Given the description of an element on the screen output the (x, y) to click on. 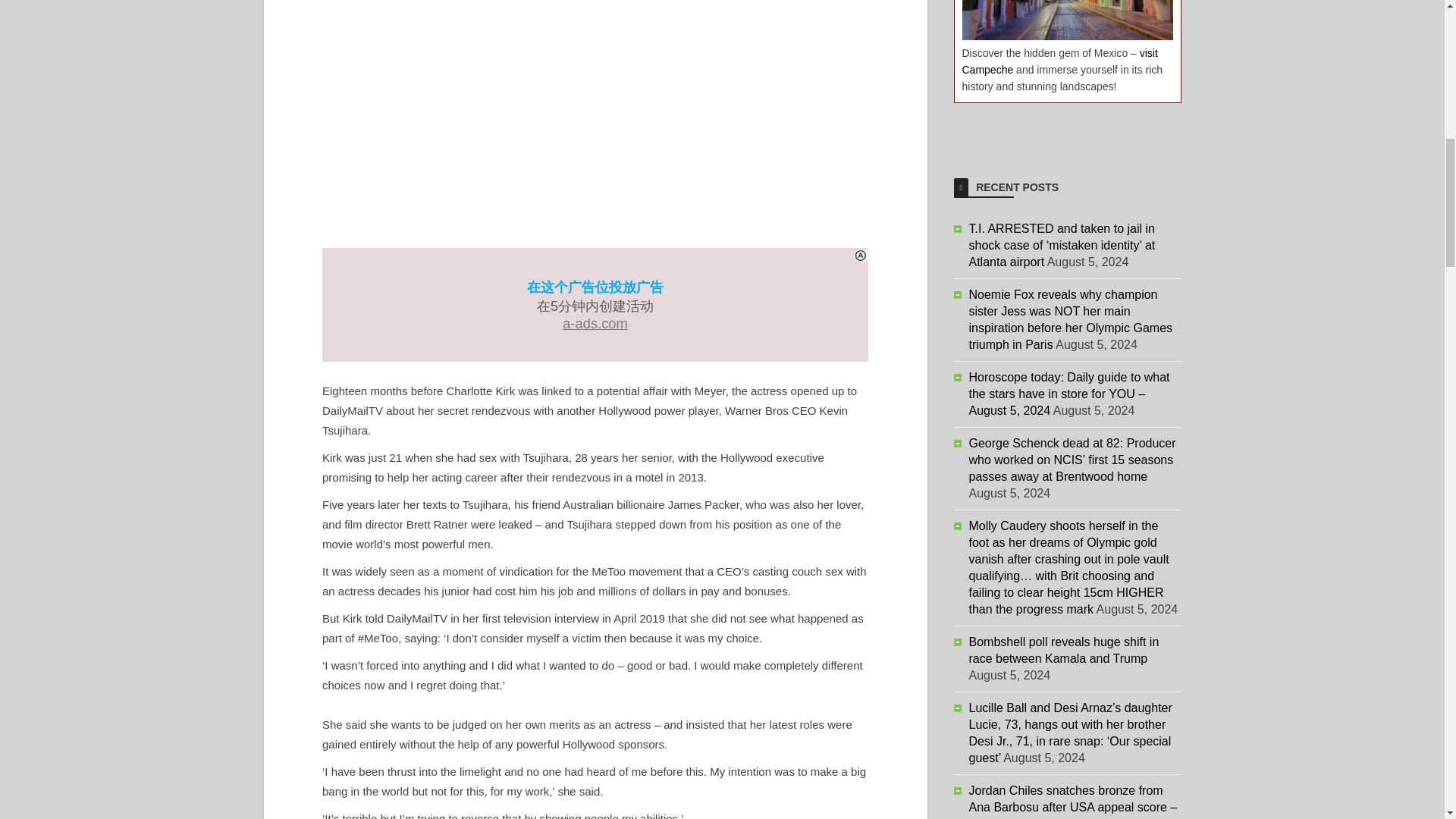
visit Campeche (1058, 61)
